Given the description of an element on the screen output the (x, y) to click on. 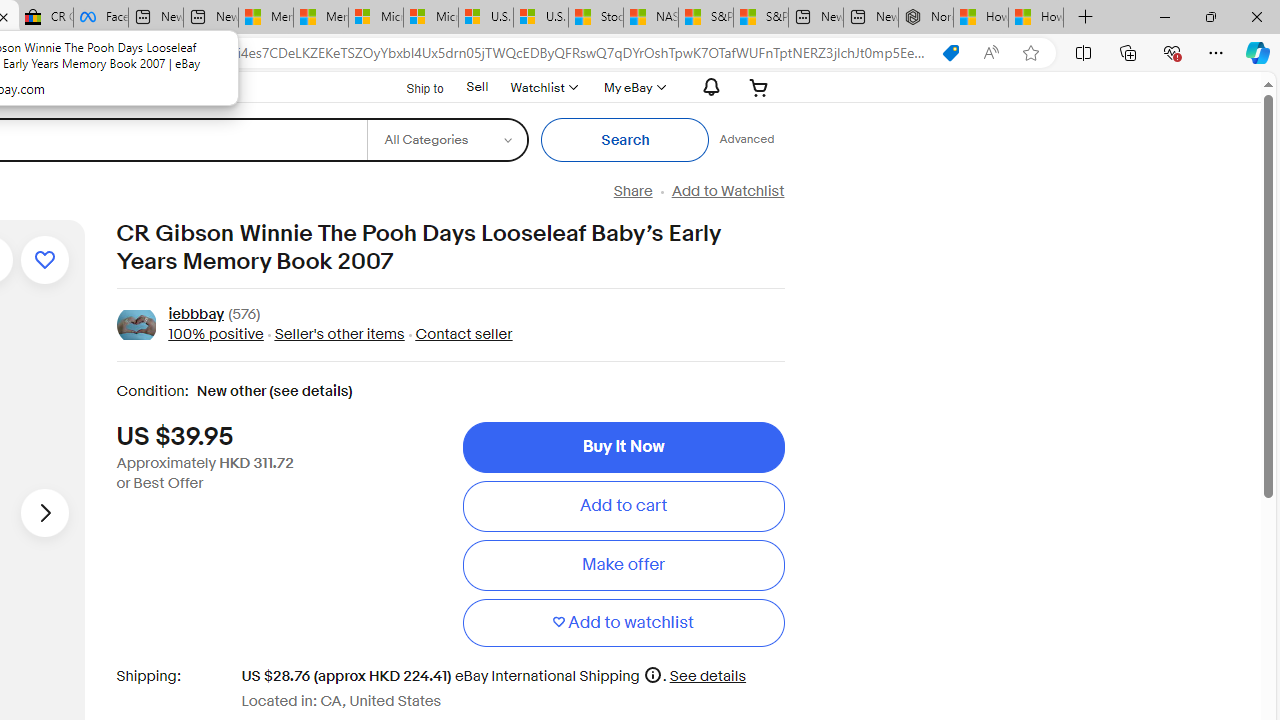
100% positive (215, 334)
Seller's other items (338, 334)
Split screen (1083, 52)
Read aloud this page (Ctrl+Shift+U) (991, 53)
  Seller's other items (333, 334)
Add to watchlist (623, 622)
Add to Watchlist (727, 191)
Add to watchlist (44, 259)
Collections (1128, 52)
Buy It Now (623, 447)
New Tab (1085, 17)
Make offer (623, 565)
Ship to (412, 85)
